Given the description of an element on the screen output the (x, y) to click on. 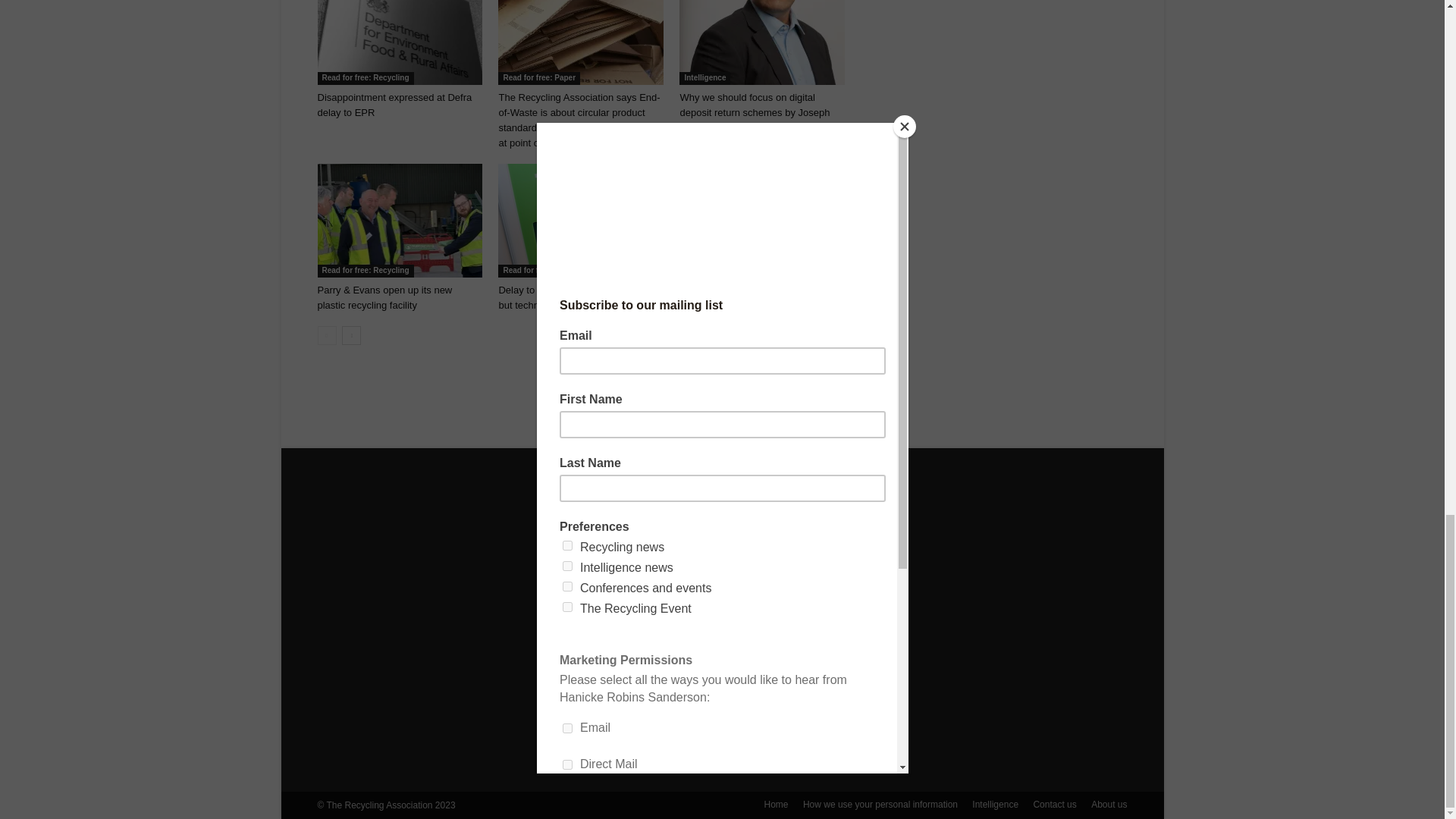
Disappointment expressed at Defra delay to EPR (394, 104)
Disappointment expressed at Defra delay to EPR (399, 42)
